Given the description of an element on the screen output the (x, y) to click on. 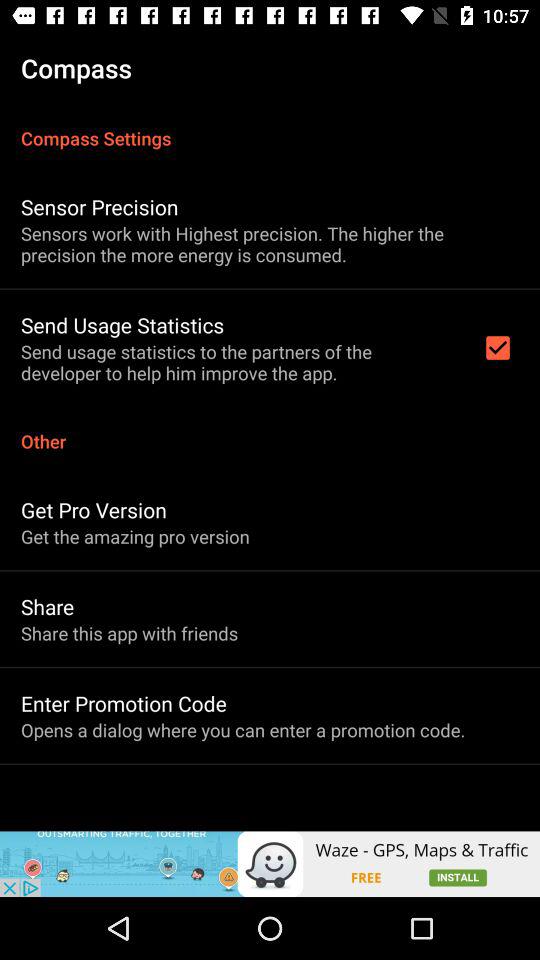
flip to the compass settings icon (270, 127)
